Given the description of an element on the screen output the (x, y) to click on. 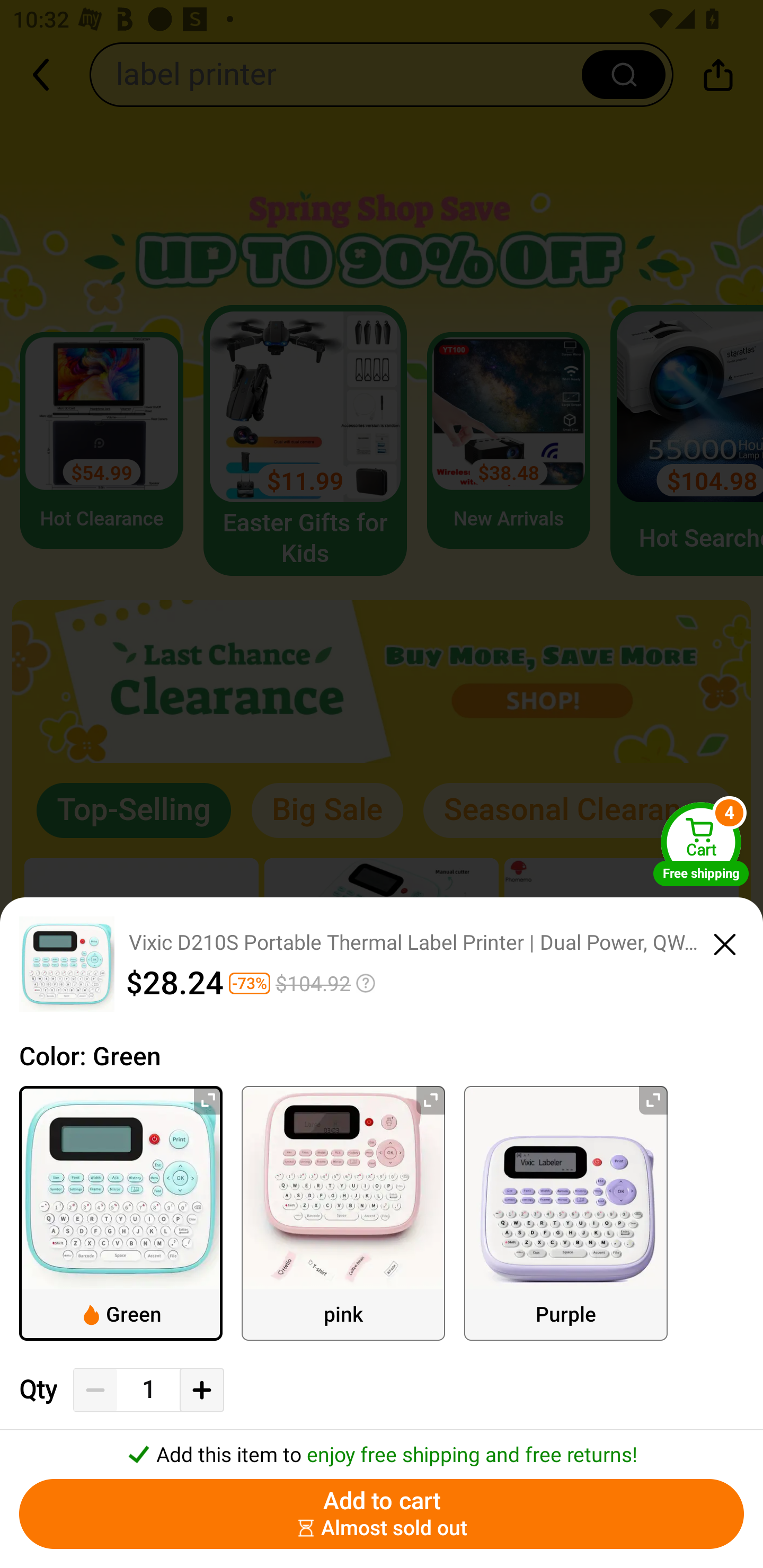
Cart Free shipping Cart (701, 844)
close (724, 941)
Green ￼Green (120, 1213)
pink (342, 1213)
Purple (565, 1213)
Decrease Quantity Button (95, 1389)
Add Quantity Button (201, 1389)
1 (148, 1389)
Add to cart ￼￼Almost sold out (381, 1513)
